Given the description of an element on the screen output the (x, y) to click on. 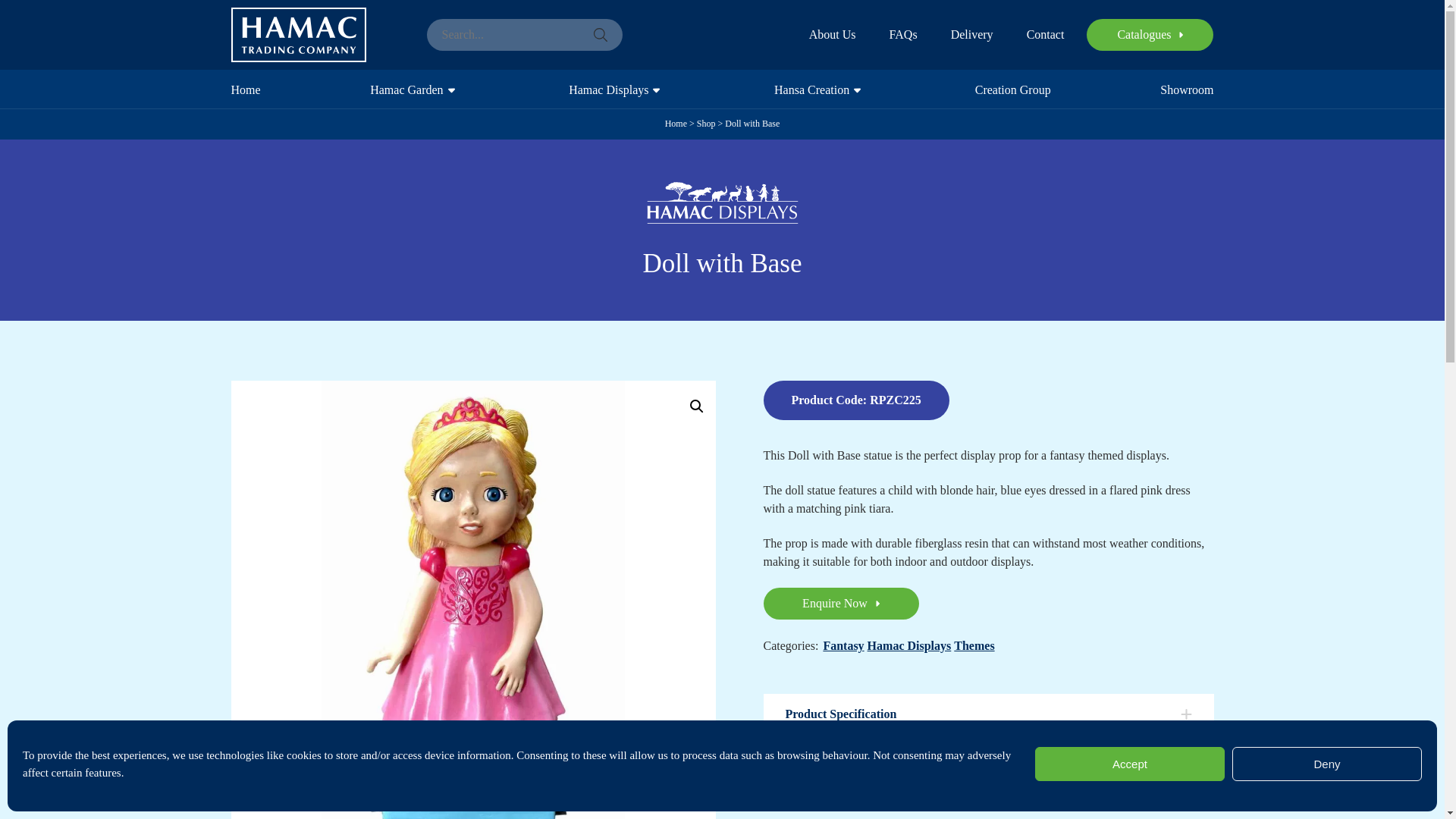
Catalogues (1149, 34)
FAQs (903, 34)
Accept (1129, 763)
Contact (1045, 34)
Hamac Garden (407, 88)
Deny (1326, 763)
Delivery (971, 34)
Hamac Displays (610, 88)
About Us (832, 34)
